Given the description of an element on the screen output the (x, y) to click on. 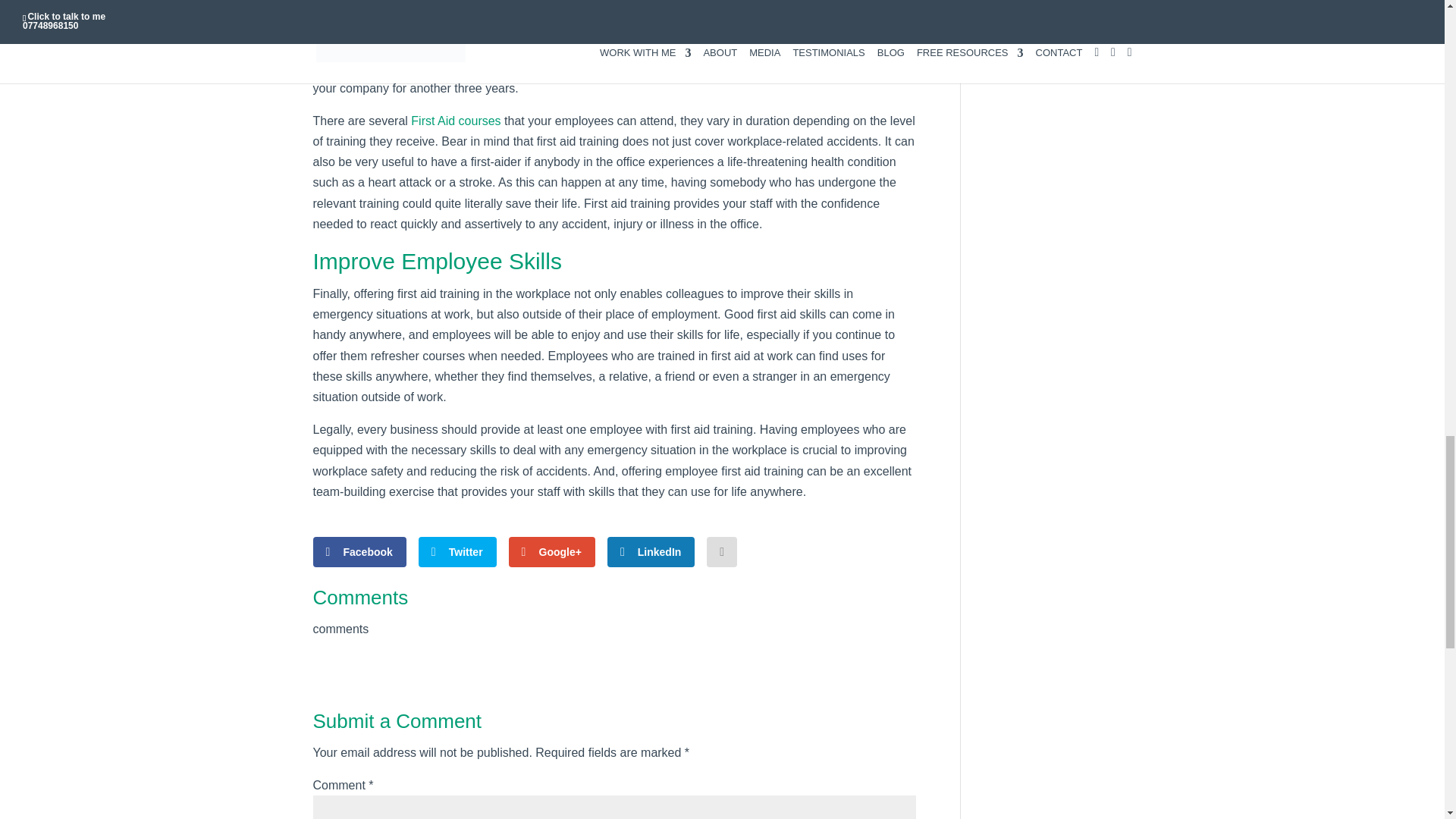
Facebook (359, 552)
Skills Training Group offer this type of training (597, 36)
LinkedIn (651, 552)
First Aid courses (455, 120)
Twitter (457, 552)
